Given the description of an element on the screen output the (x, y) to click on. 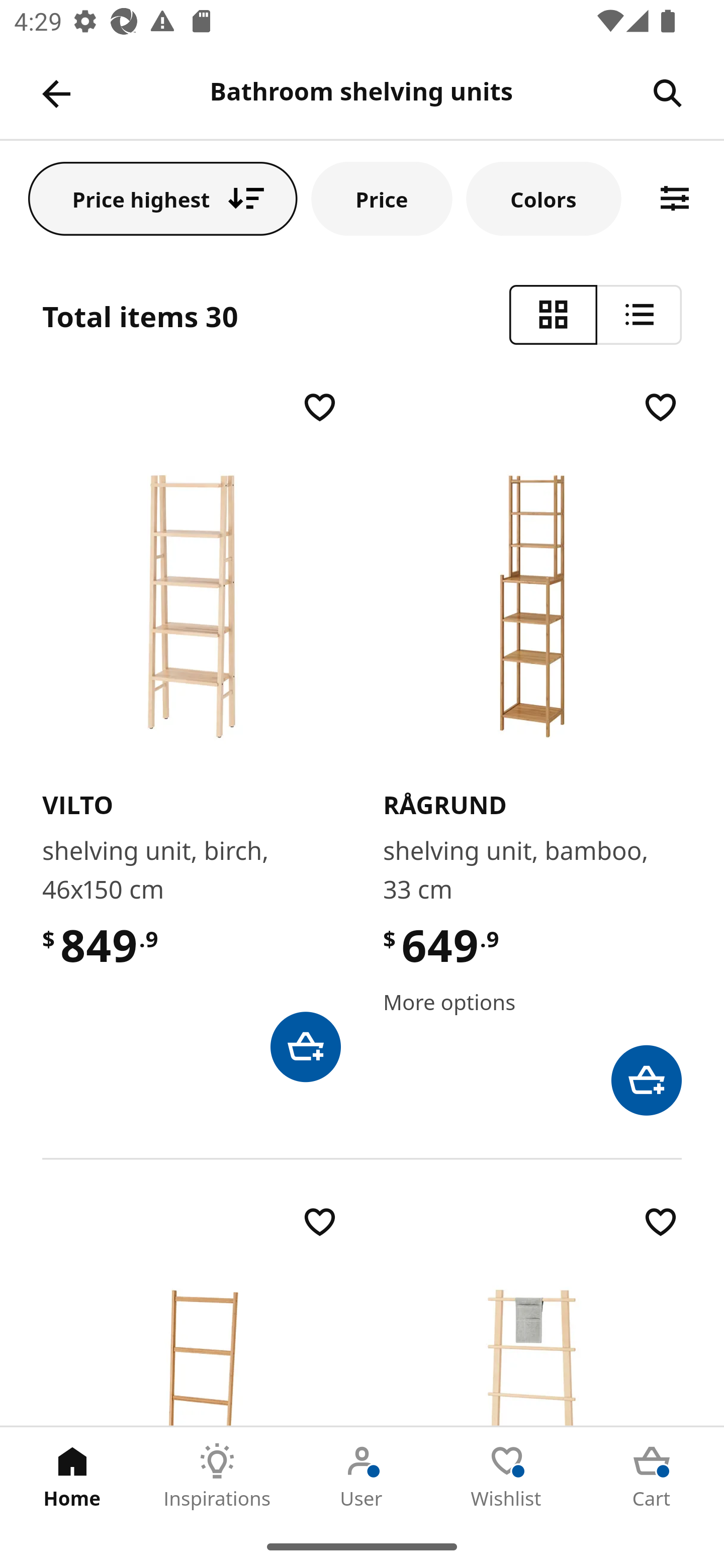
Price highest (162, 198)
Price (382, 198)
Colors (543, 198)
​R​Å​G​R​U​N​D​
towel rack chair, bamboo
$
549
.9 (191, 1313)
​V​I​L​T​O​
towel stand, birch
$
499
.9 (532, 1313)
Home
Tab 1 of 5 (72, 1476)
Inspirations
Tab 2 of 5 (216, 1476)
User
Tab 3 of 5 (361, 1476)
Wishlist
Tab 4 of 5 (506, 1476)
Cart
Tab 5 of 5 (651, 1476)
